Given the description of an element on the screen output the (x, y) to click on. 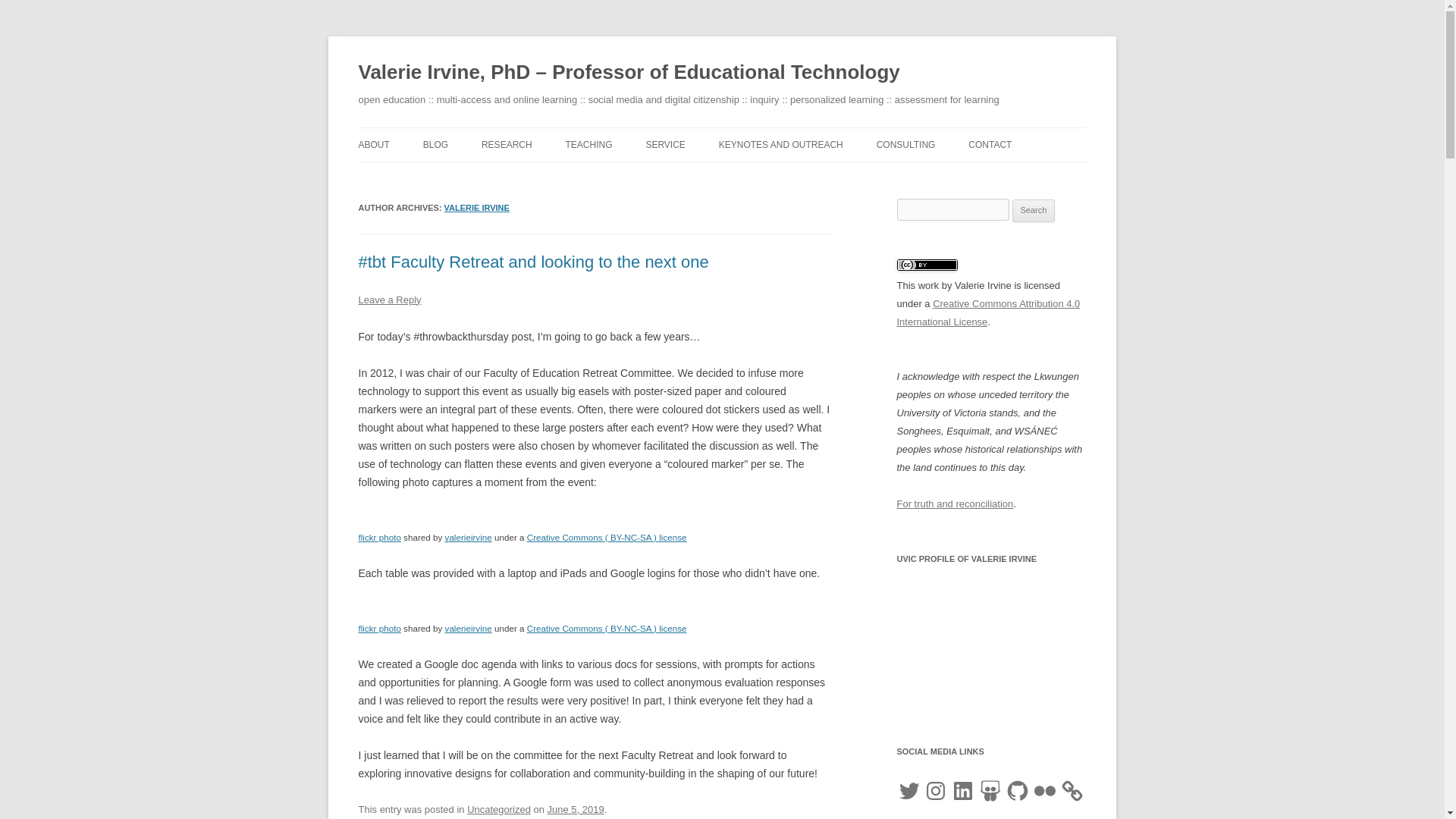
TIE RESEARCH LAB (557, 176)
flickr photo (379, 537)
Uncategorized (499, 808)
TEACHING (589, 144)
June 5, 2019 (575, 808)
ORGANIZATIONAL DEVELOPMENT (951, 185)
My learning pics (379, 628)
CONSULTING (906, 144)
SUPERVISION (641, 176)
